Given the description of an element on the screen output the (x, y) to click on. 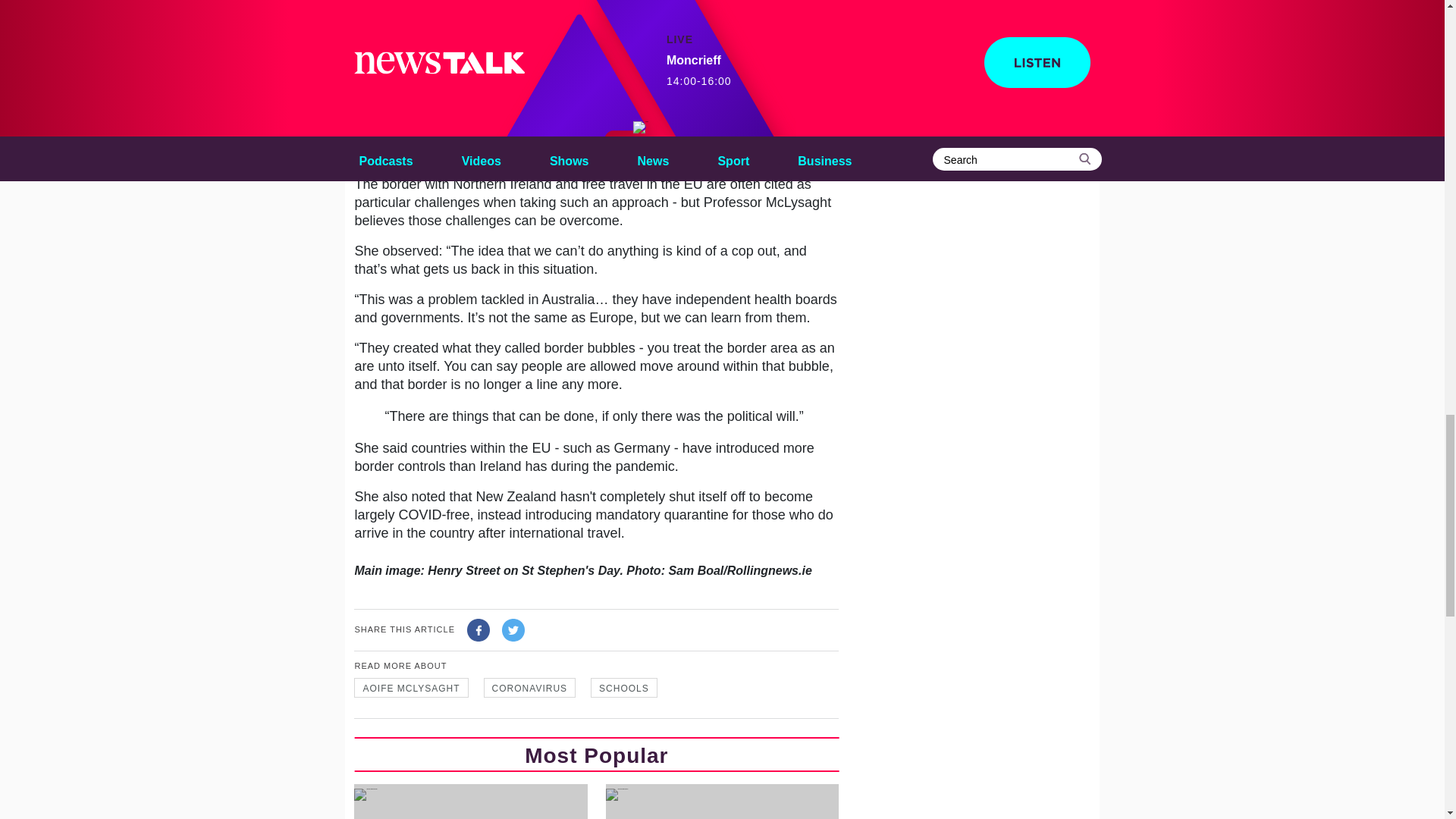
AOIFE MCLYSAGHT (410, 687)
SCHOOLS (624, 687)
CORONAVIRUS (529, 687)
